Given the description of an element on the screen output the (x, y) to click on. 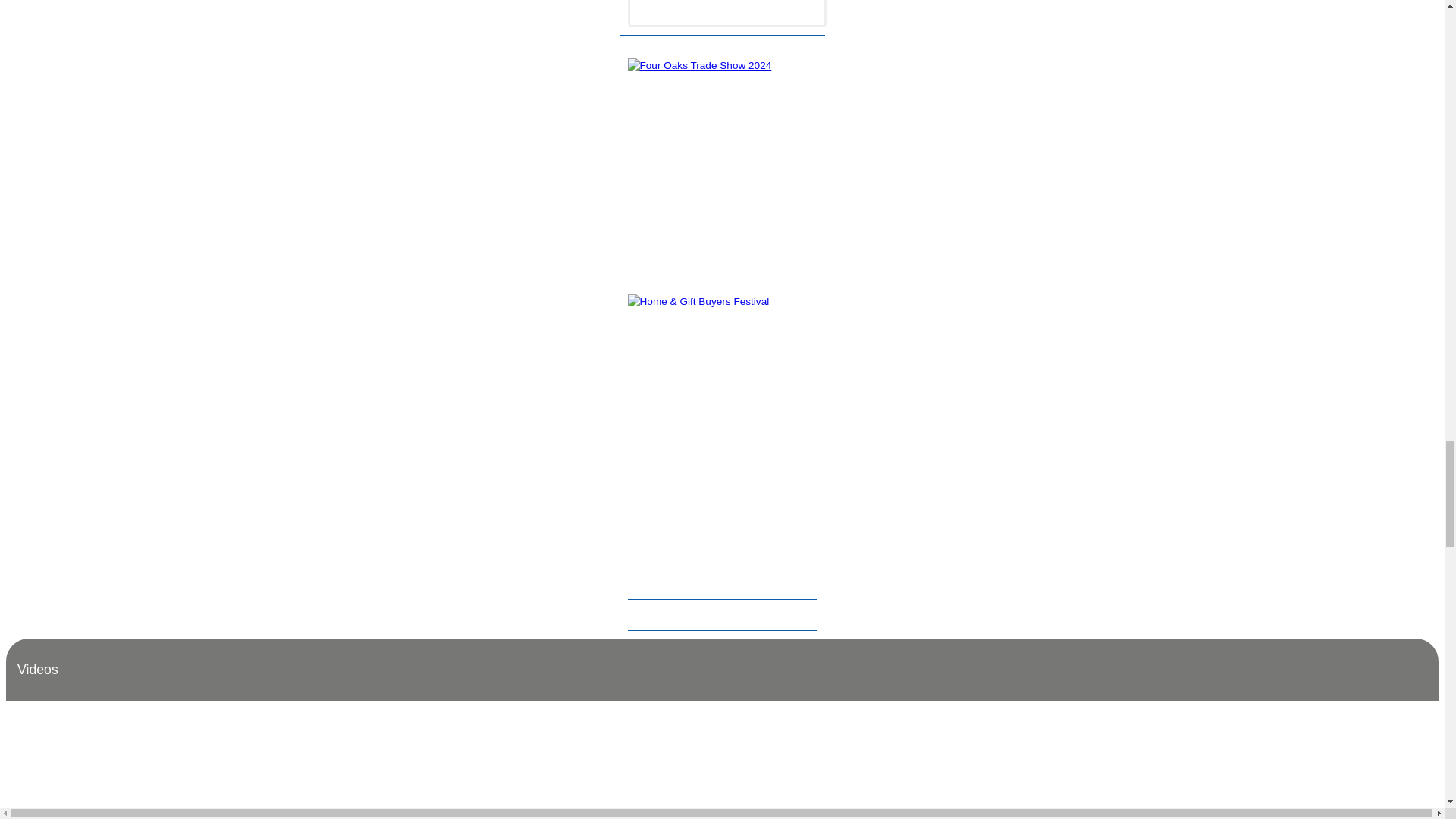
garden trade specialist issue 29 (727, 13)
Four Oaks Trade Show 2024 (726, 152)
